Given the description of an element on the screen output the (x, y) to click on. 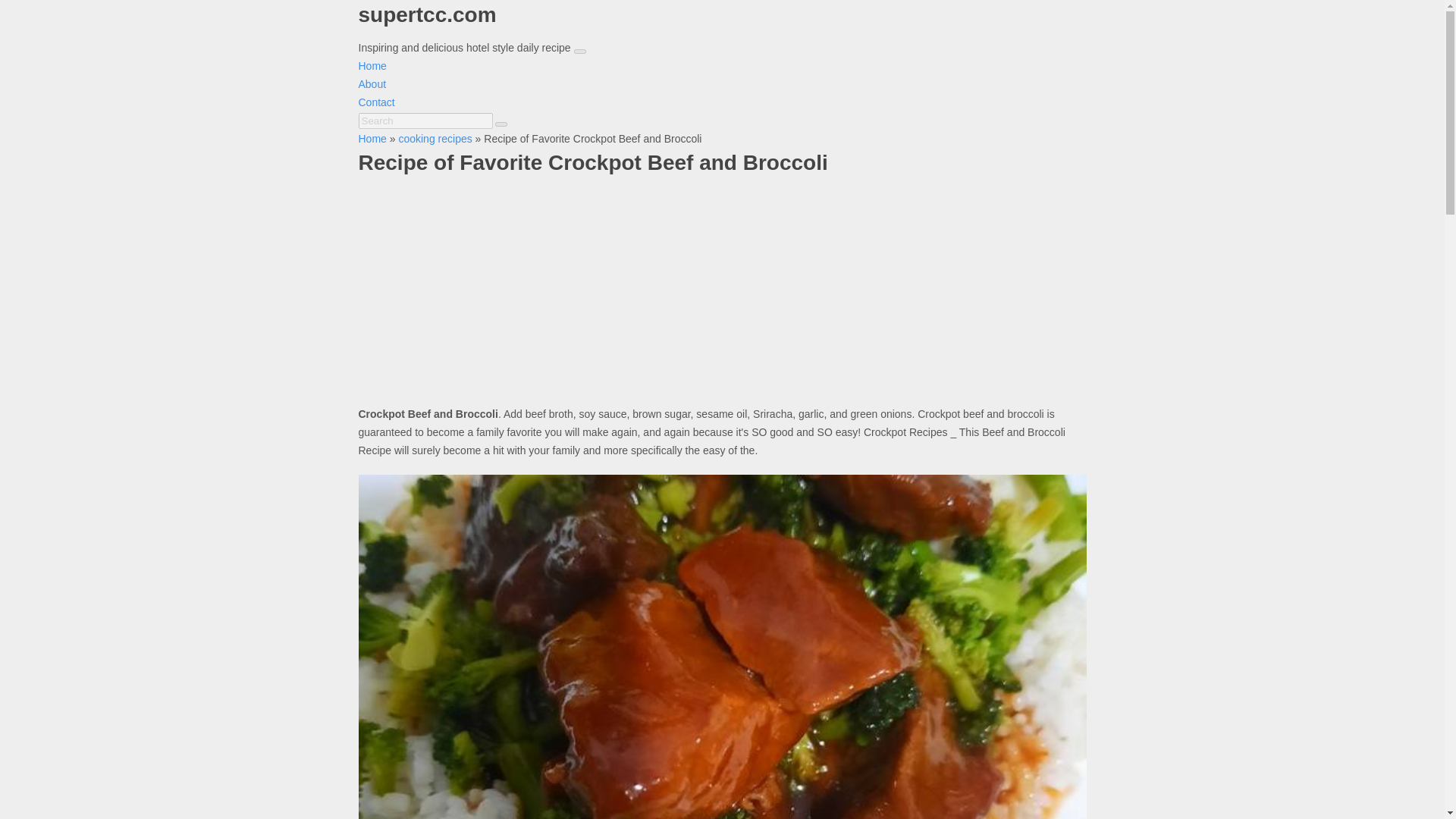
Home (371, 138)
supertcc.com (722, 27)
Home (371, 65)
Search (425, 120)
cooking recipes (434, 138)
About (371, 83)
Home (371, 65)
About (371, 83)
supertcc.com (722, 27)
Contact (376, 102)
Contact (376, 102)
